Given the description of an element on the screen output the (x, y) to click on. 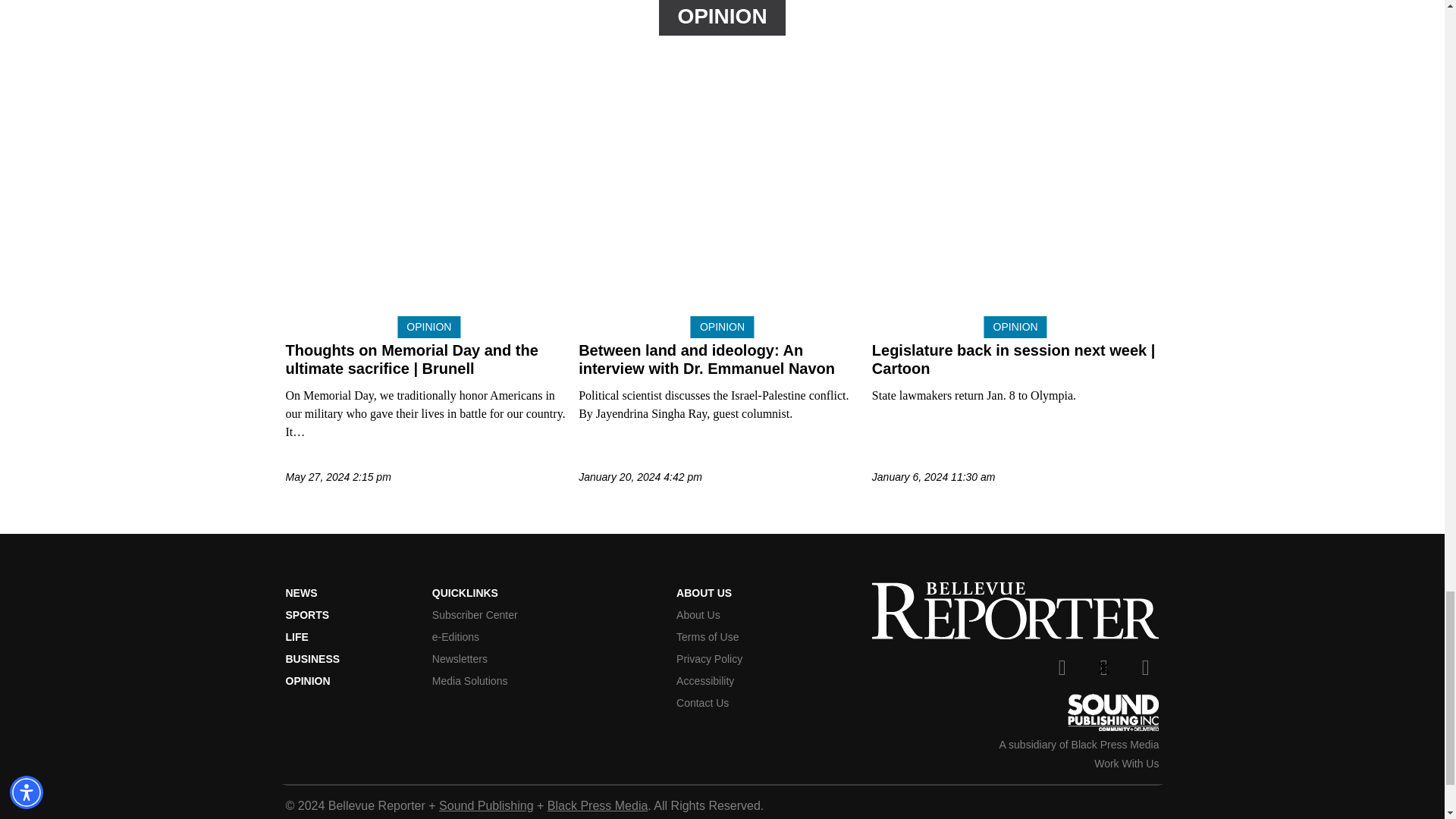
bel-logo.svg (1015, 610)
